Given the description of an element on the screen output the (x, y) to click on. 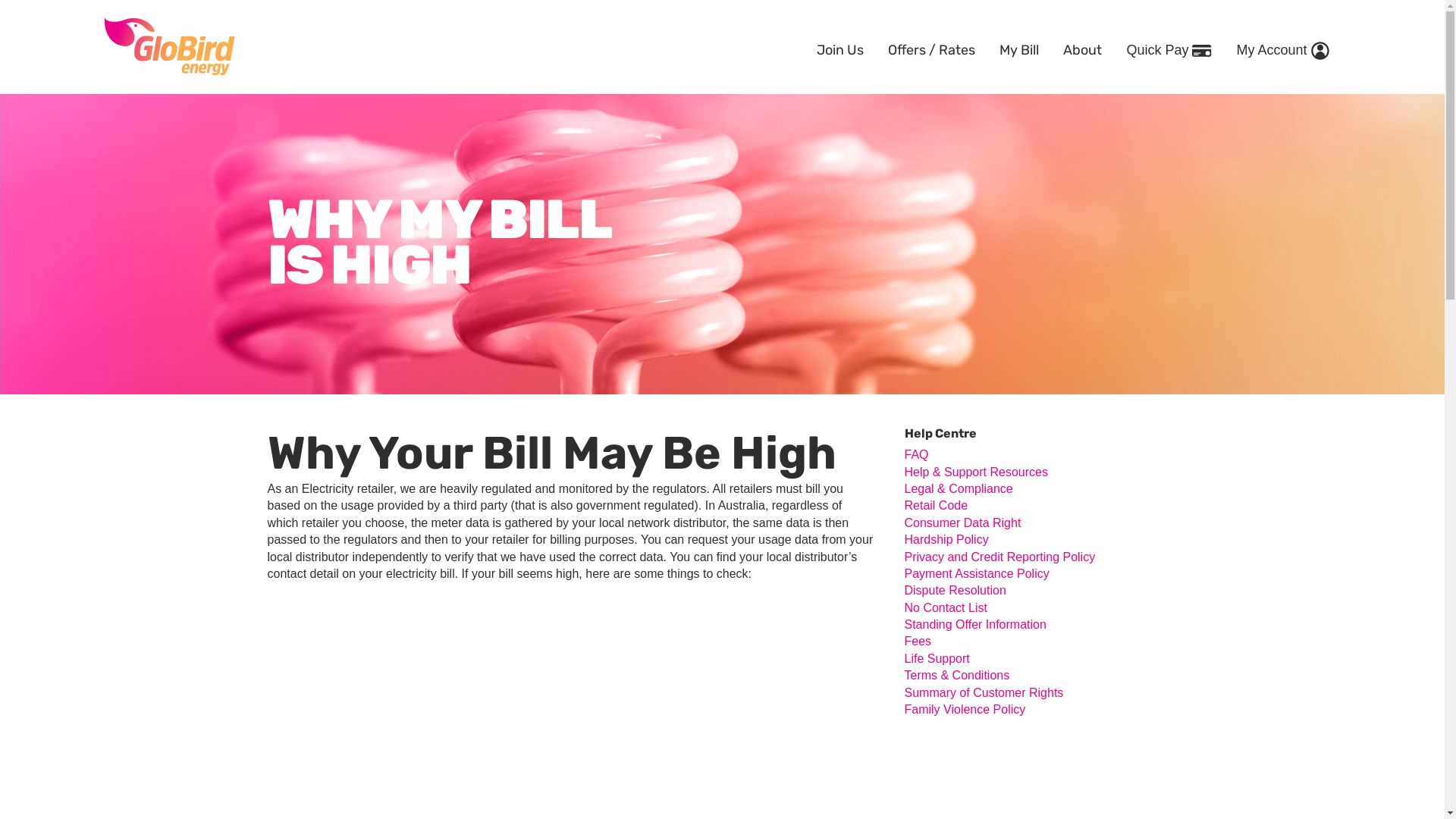
Skip to primary navigation Element type: text (0, 91)
Consumer Data Right Element type: text (961, 522)
Standing Offer Information Element type: text (974, 624)
My Bill Element type: text (1019, 46)
Retail Code Element type: text (935, 504)
My Account Element type: text (1281, 46)
Legal & Compliance Element type: text (957, 488)
Terms & Conditions Element type: text (956, 674)
Summary of Customer Rights Element type: text (983, 692)
Life Support Element type: text (936, 658)
Offers / Rates Element type: text (931, 46)
Fees Element type: text (917, 640)
Globird Energy Element type: text (168, 45)
Privacy and Credit Reporting Policy Element type: text (999, 556)
Hardship Policy Element type: text (945, 539)
Help & Support Resources Element type: text (975, 471)
Quick Pay Element type: text (1168, 46)
Dispute Resolution Element type: text (954, 589)
FAQ Element type: text (915, 454)
About Element type: text (1082, 46)
No Contact List Element type: text (944, 607)
Payment Assistance Policy Element type: text (975, 573)
Family Violence Policy Element type: text (964, 708)
Join Us Element type: text (839, 46)
